Given the description of an element on the screen output the (x, y) to click on. 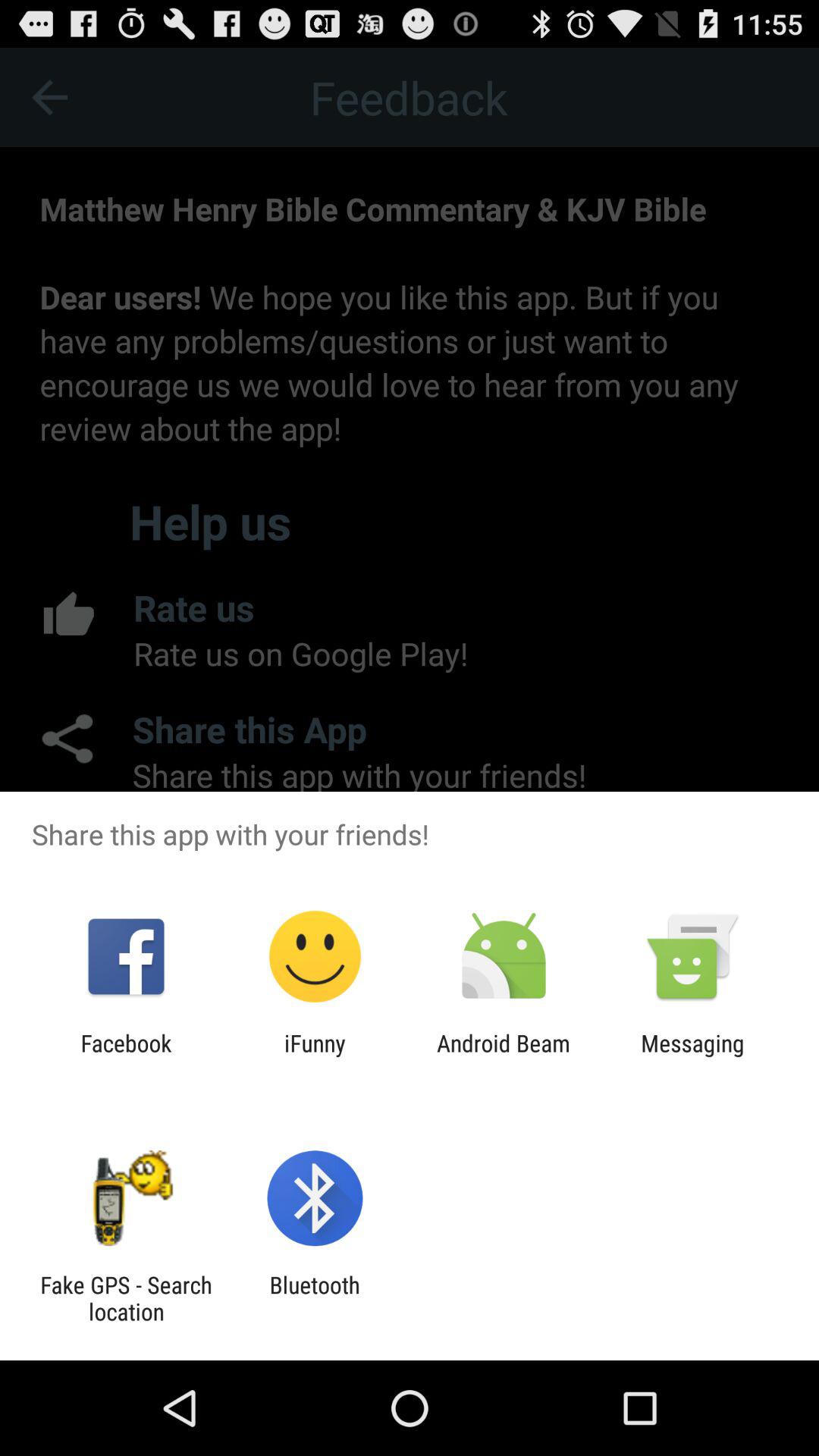
press app next to the facebook item (314, 1056)
